Given the description of an element on the screen output the (x, y) to click on. 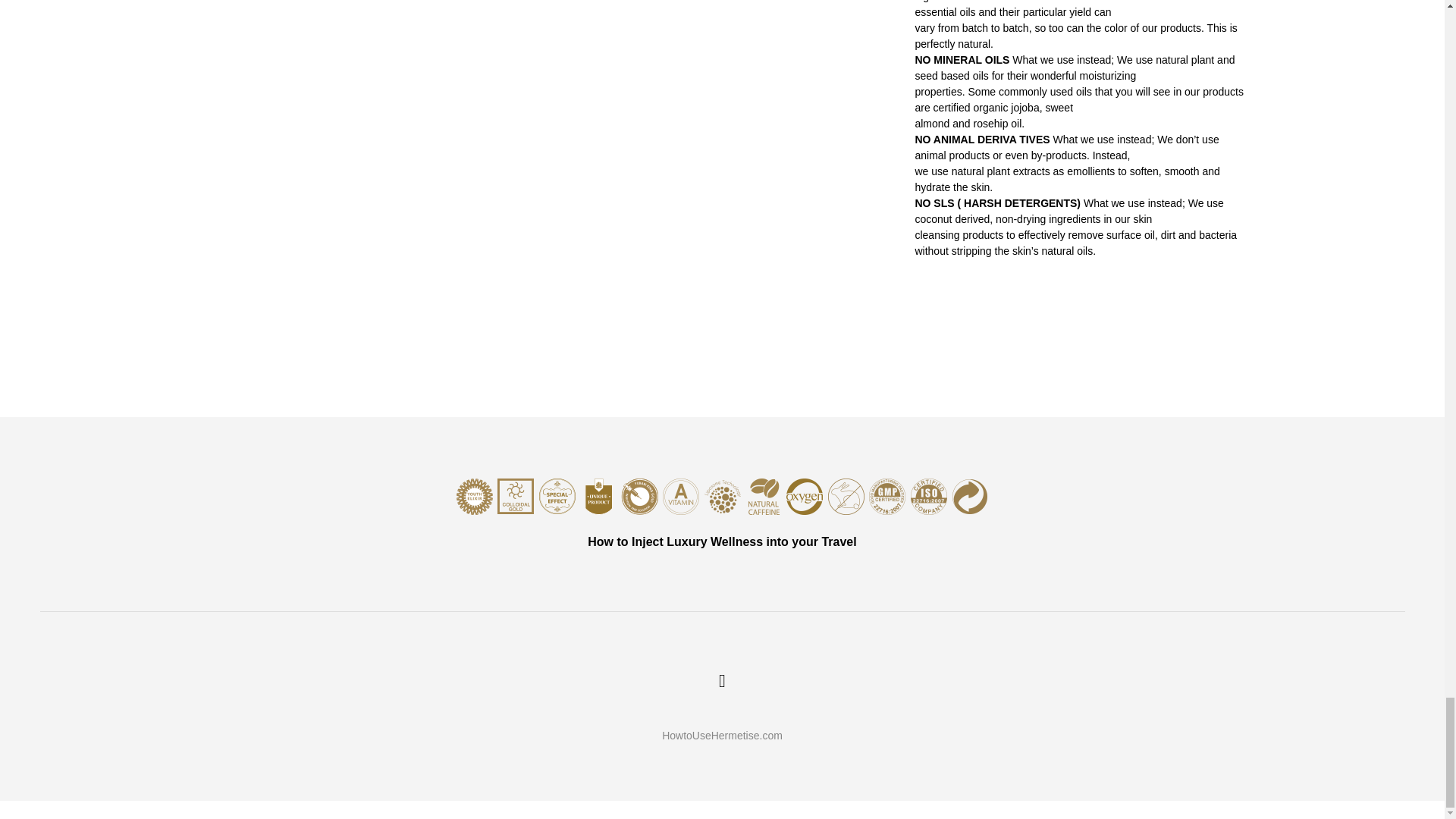
How to Inject Luxury Wellness into your Travel (721, 532)
